Given the description of an element on the screen output the (x, y) to click on. 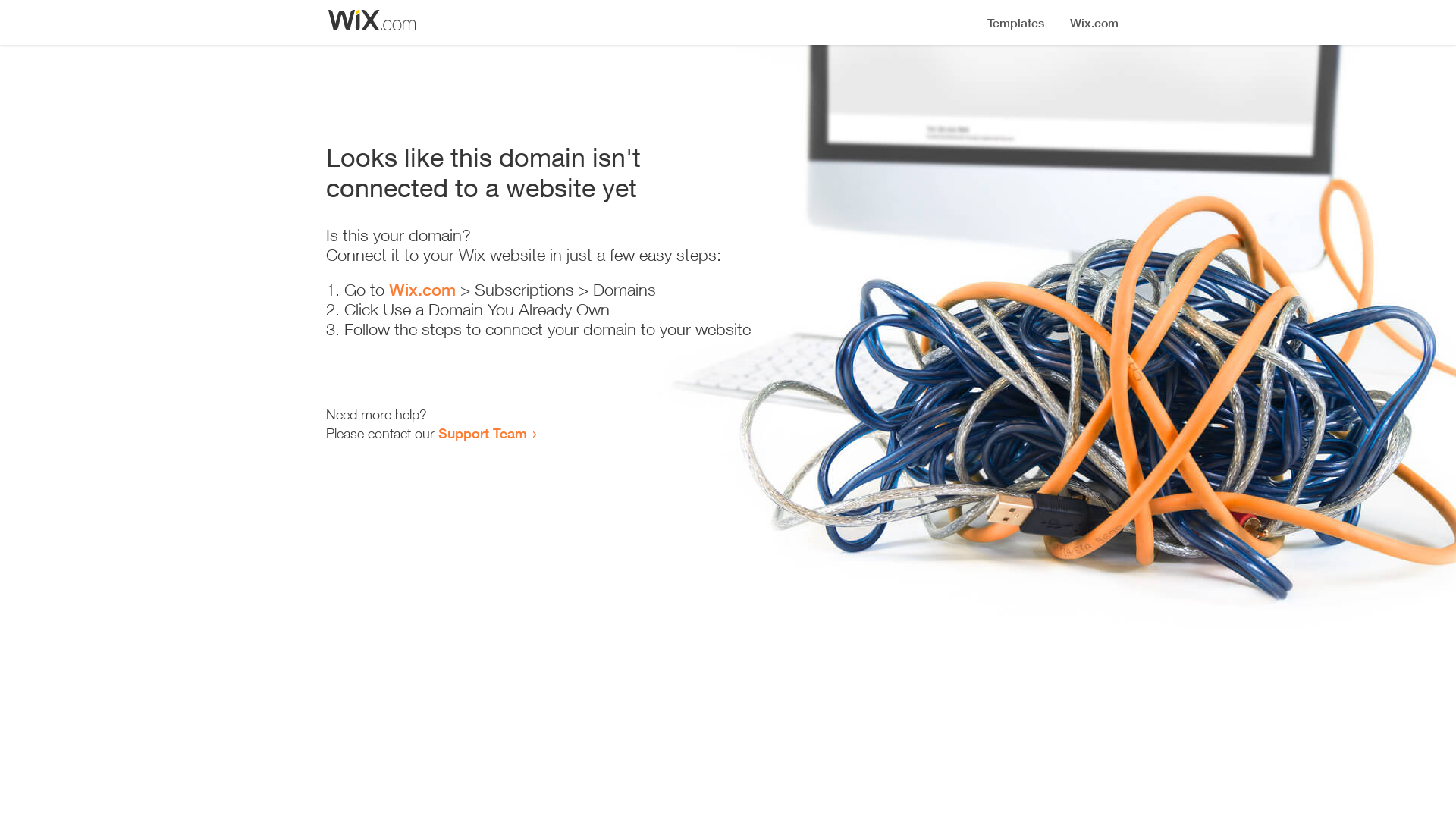
Support Team Element type: text (482, 432)
Wix.com Element type: text (422, 289)
